Given the description of an element on the screen output the (x, y) to click on. 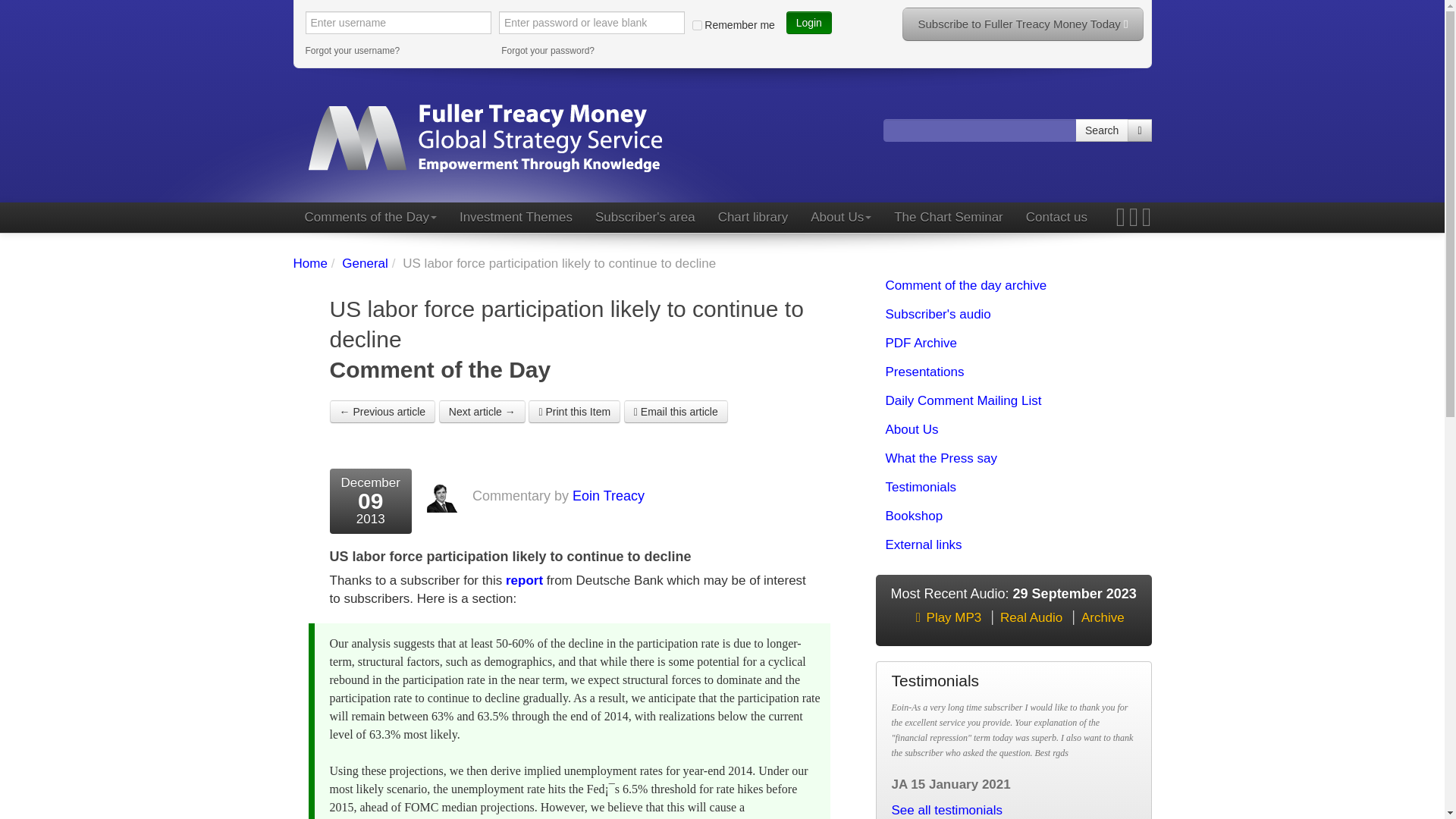
Search (1101, 129)
Forgot your username? (397, 50)
Contact us (1056, 217)
The Chart Seminar (948, 217)
Subscribe to Fuller Treacy Money Today (1022, 23)
Forgot your password? (593, 50)
Subscriber's area (644, 217)
report (524, 580)
Chart library (752, 217)
Investment Themes (515, 217)
General (364, 263)
Home (309, 263)
General (364, 263)
Email this article (676, 411)
Eoin Treacy (608, 495)
